Given the description of an element on the screen output the (x, y) to click on. 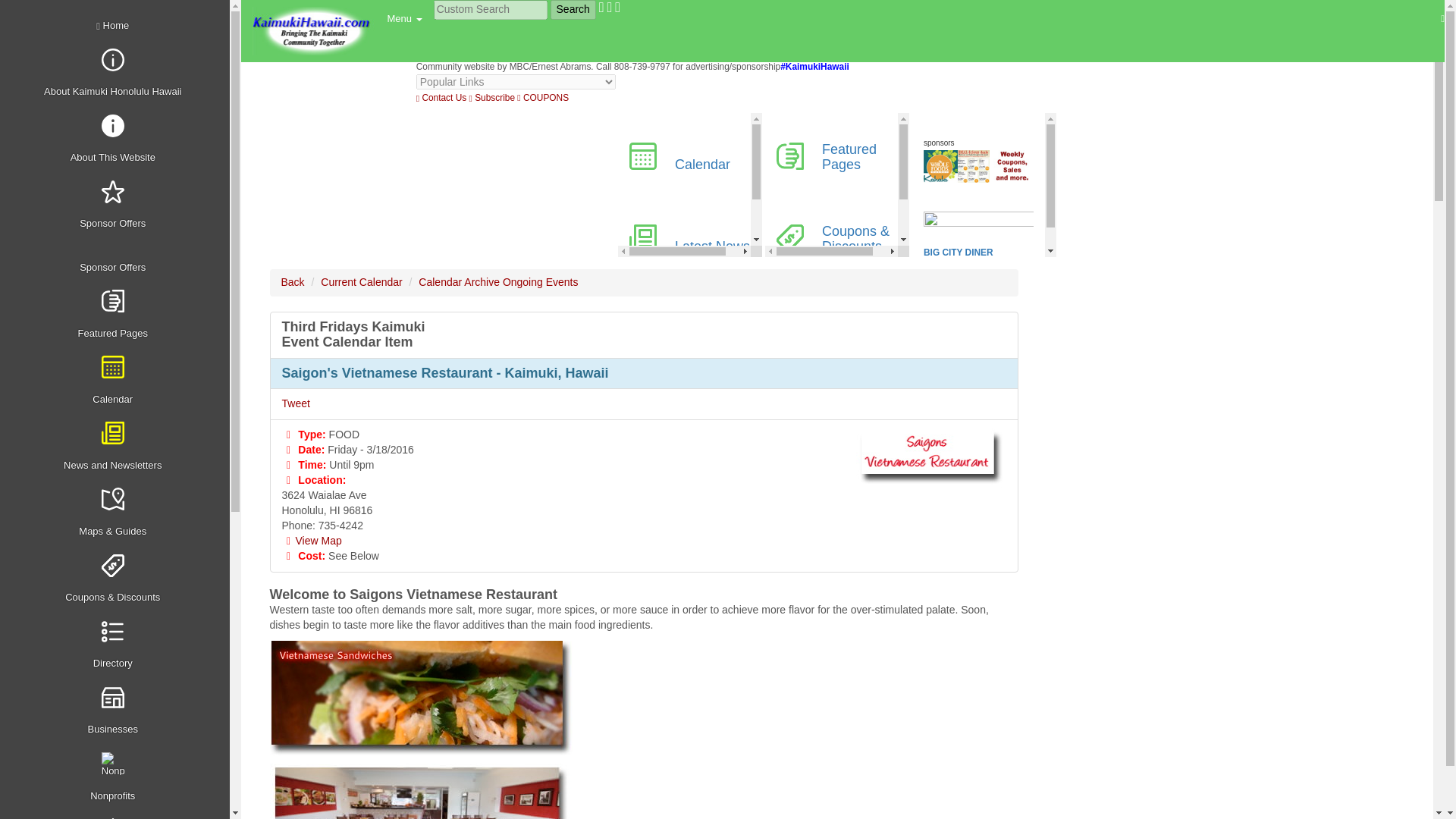
Directory (117, 645)
Businesses (117, 711)
Search (572, 9)
News and Newsletters (117, 446)
Calendar (117, 381)
About Kaimuki Honolulu Hawaii (117, 73)
About This Website (117, 139)
Sponsor Offers (117, 205)
Sponsor Offers (117, 260)
Featured Pages (117, 314)
